Given the description of an element on the screen output the (x, y) to click on. 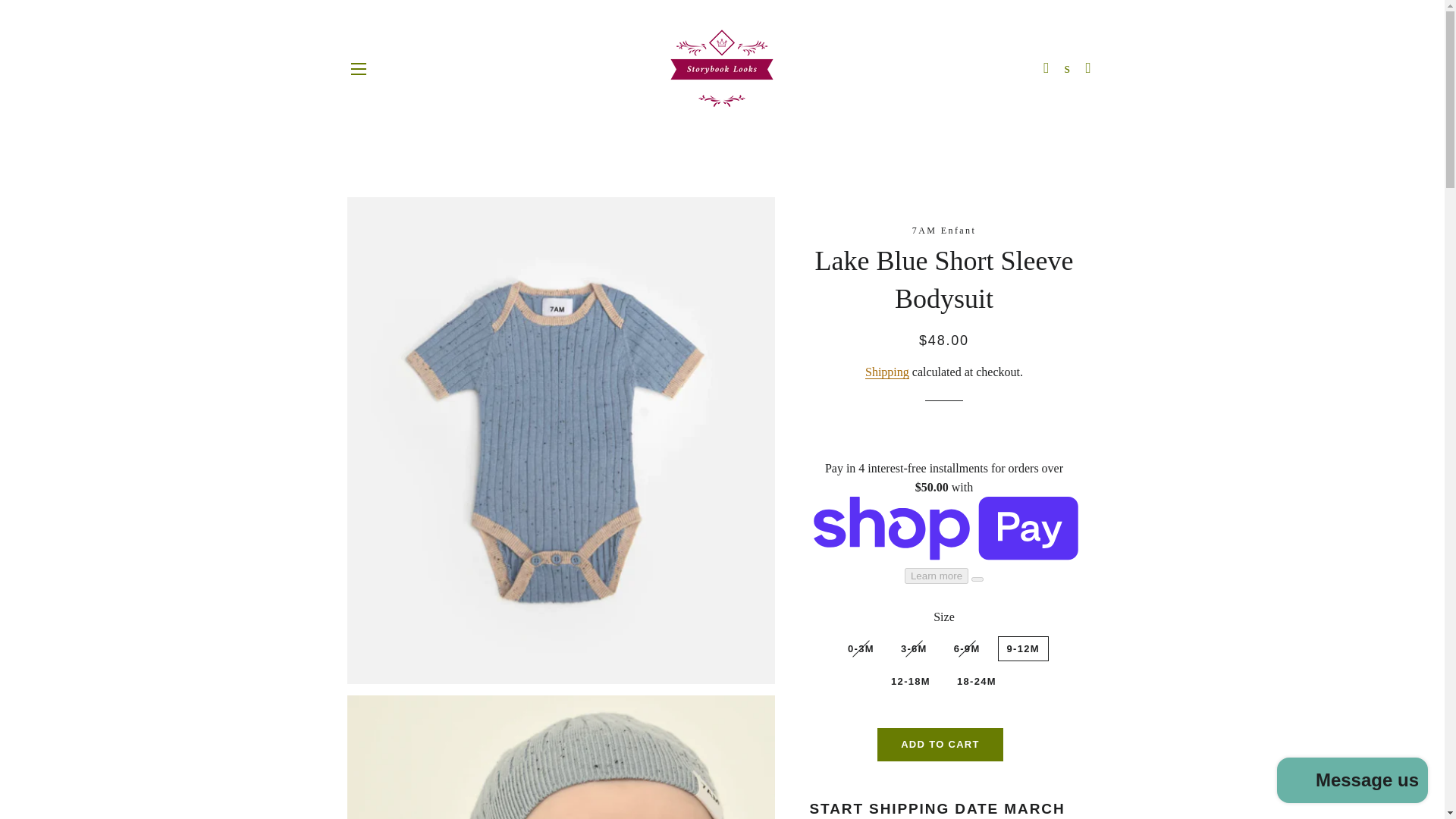
Shopify online store chat (1352, 781)
